Given the description of an element on the screen output the (x, y) to click on. 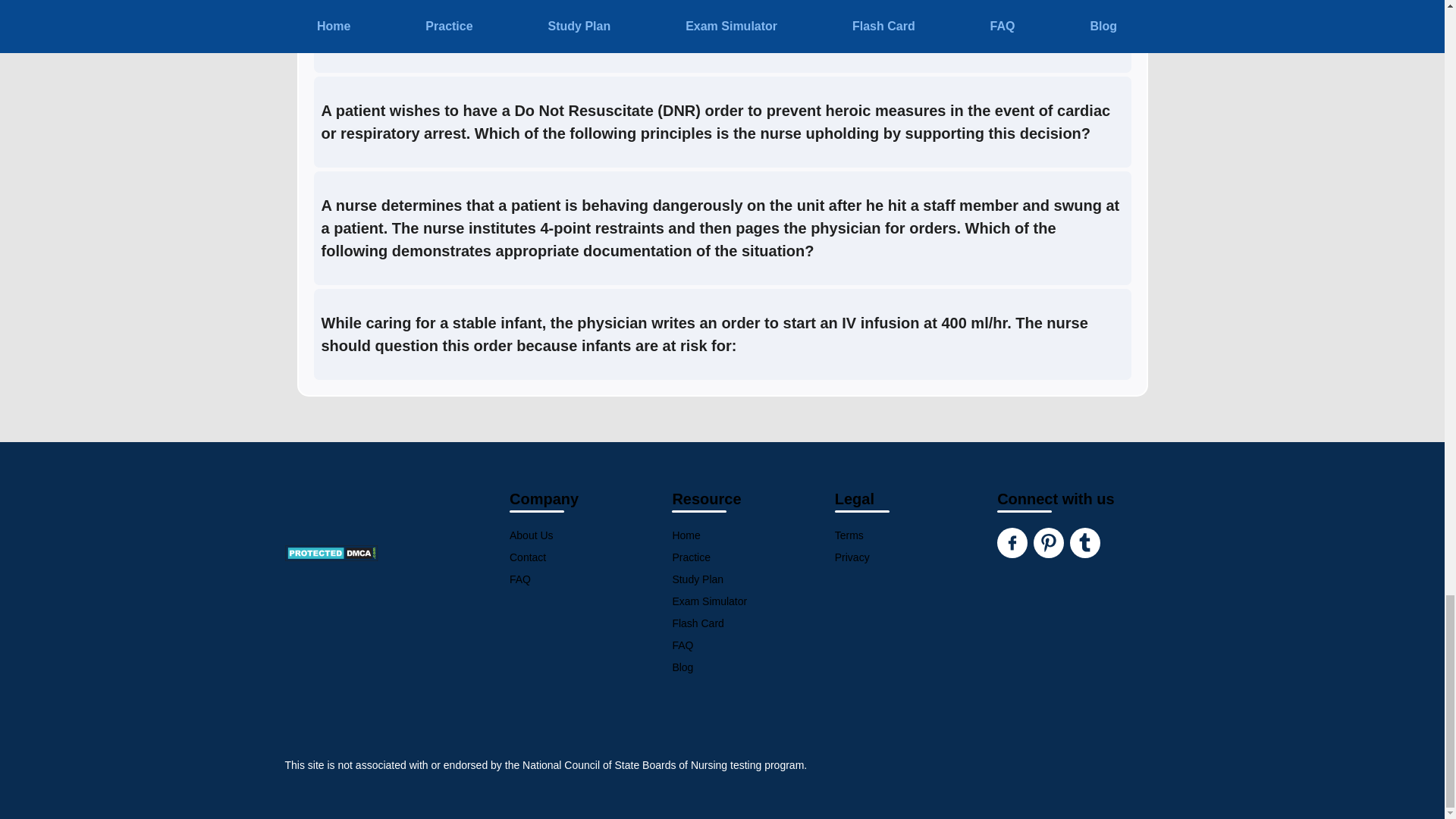
Practice (752, 556)
About Us (590, 535)
Contact (590, 556)
Study Plan (752, 579)
Home (752, 535)
DMCA.com Protection Status (391, 554)
FAQ (590, 579)
